Given the description of an element on the screen output the (x, y) to click on. 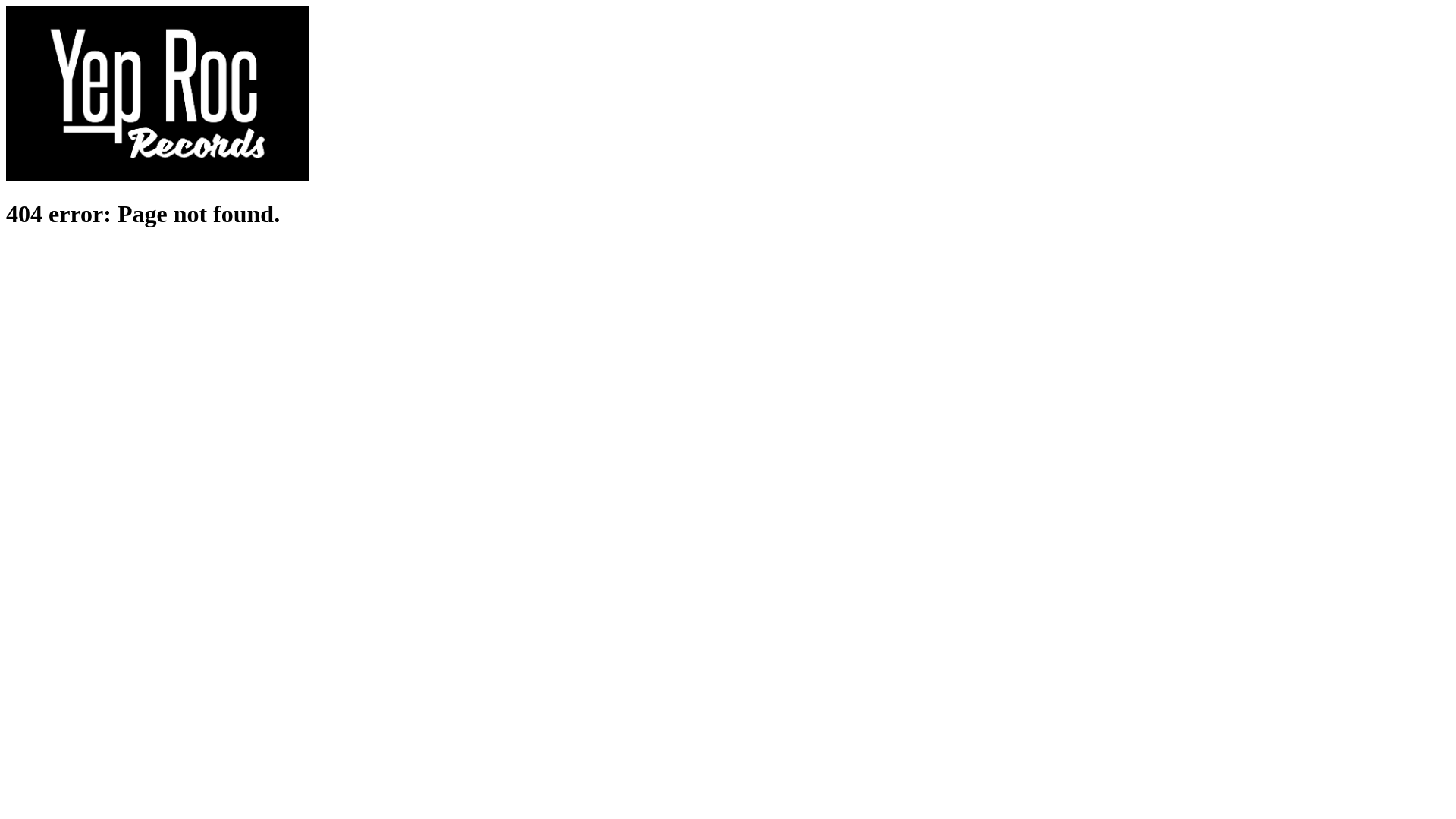
Yep Roc Records Element type: hover (157, 176)
